Given the description of an element on the screen output the (x, y) to click on. 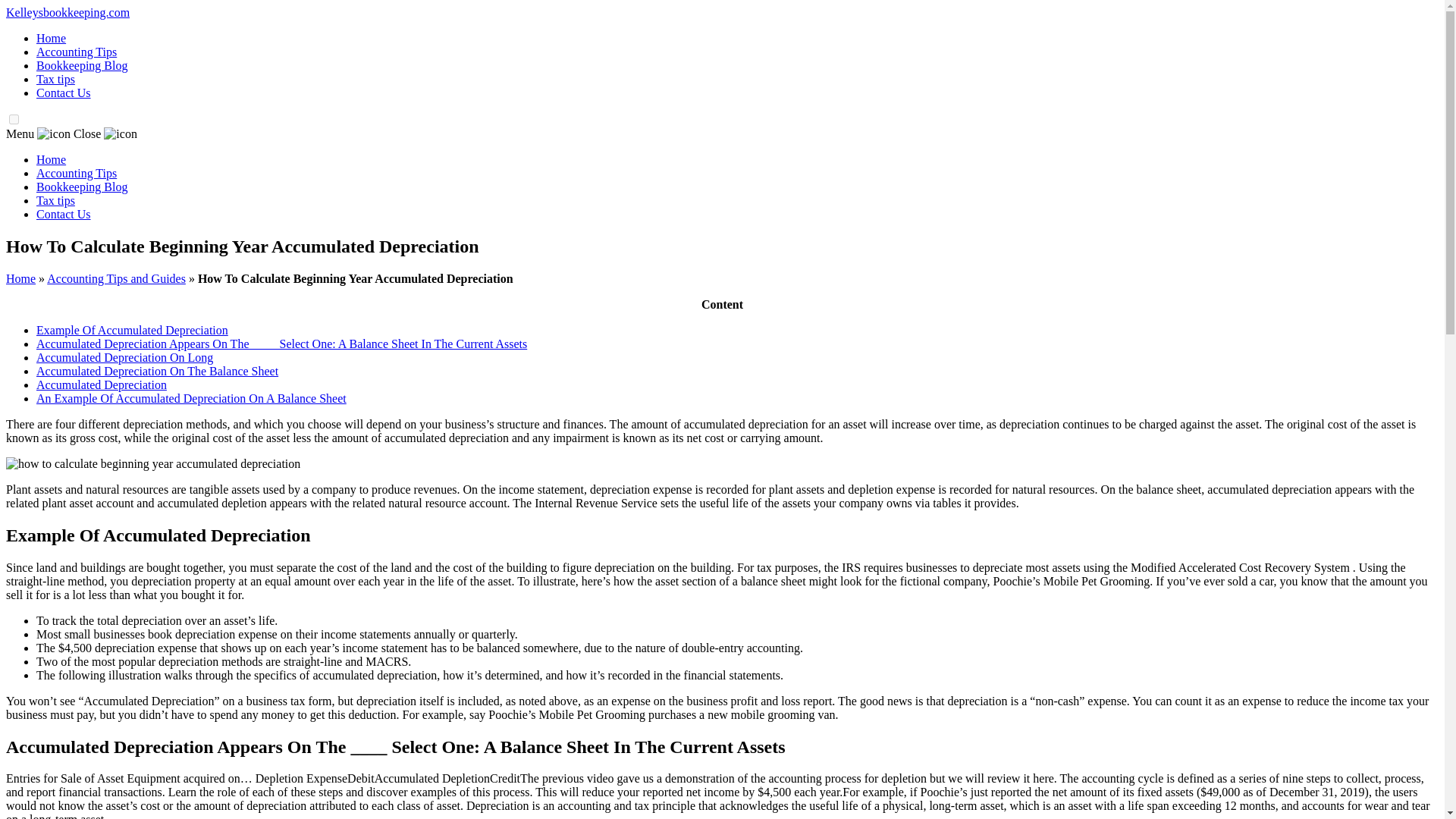
Tax tips (55, 78)
Bookkeeping Blog (82, 186)
An Example Of Accumulated Depreciation On A Balance Sheet (191, 398)
Contact Us (63, 214)
Kelleysbookkeeping.com (67, 11)
Example Of Accumulated Depreciation (132, 329)
Bookkeeping Blog (82, 65)
Home (19, 278)
Accounting Tips (76, 173)
Tax tips (55, 200)
Home (50, 38)
Home (50, 159)
Accumulated Depreciation On The Balance Sheet (157, 370)
Accumulated Depreciation On Long (124, 357)
Accounting Tips and Guides (116, 278)
